Given the description of an element on the screen output the (x, y) to click on. 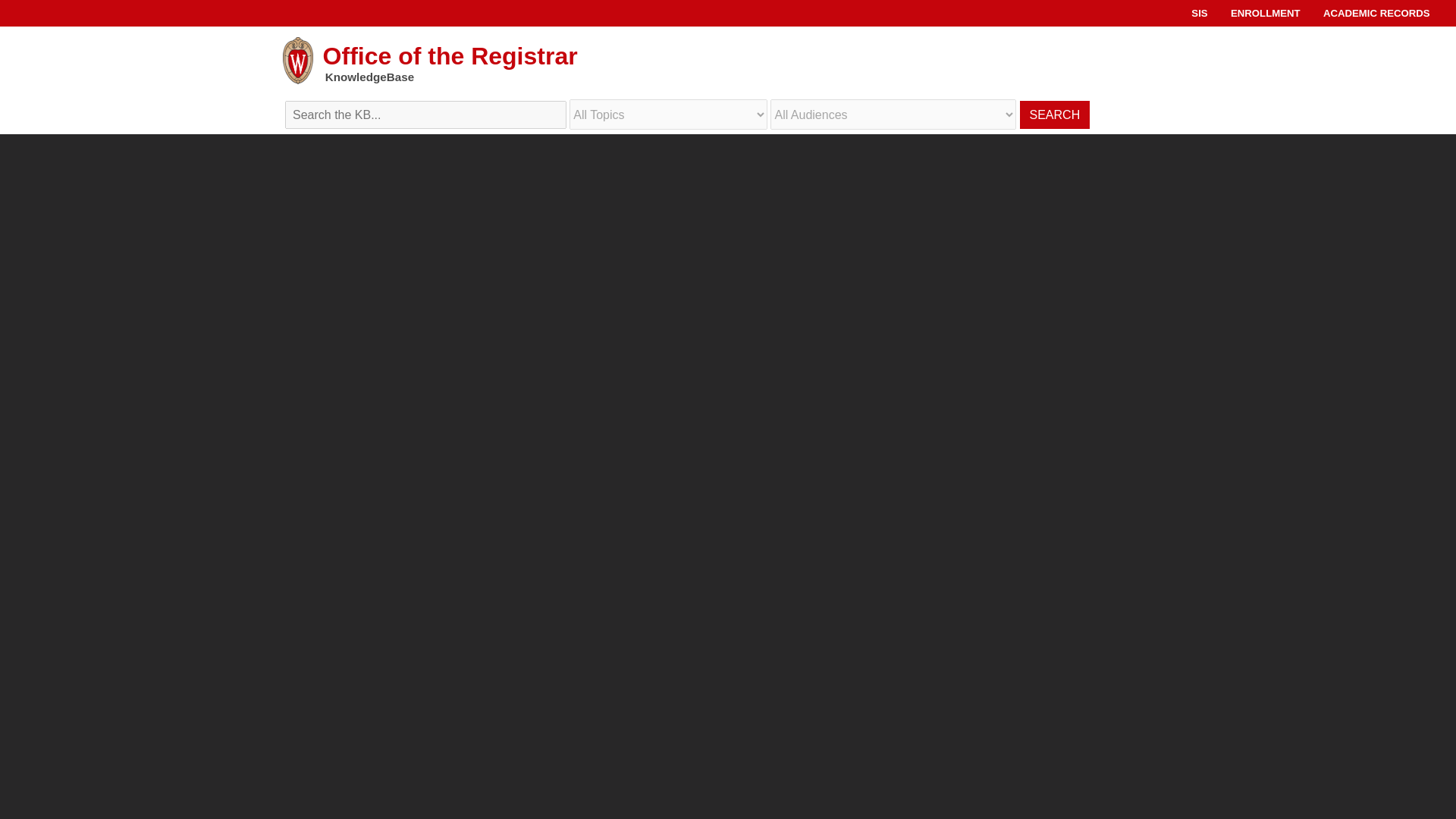
SEARCH (1054, 114)
SIS (1199, 12)
ENROLLMENT (1265, 12)
SEARCH (1054, 114)
SEARCH (1054, 114)
Office of the Registrar (727, 60)
ACADEMIC RECORDS (1376, 12)
Search (727, 105)
